Given the description of an element on the screen output the (x, y) to click on. 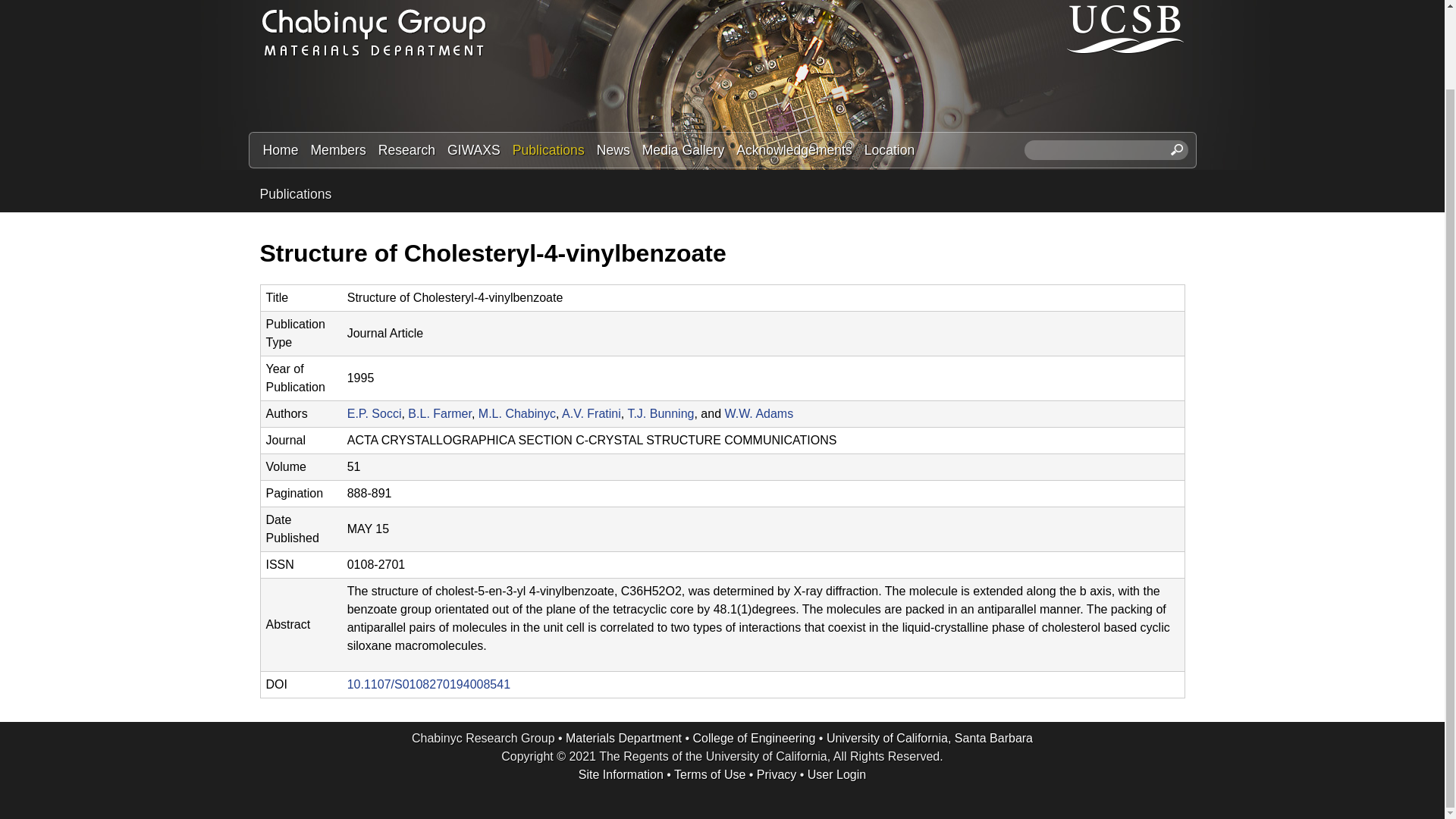
W.W. Adams (758, 413)
Publications (548, 149)
T.J. Bunning (660, 413)
A.V. Fratini (591, 413)
M.L. Chabinyc (517, 413)
Members (337, 149)
Home (280, 149)
College of Engineering (754, 738)
E.P. Socci (374, 413)
User Login (837, 774)
